Given the description of an element on the screen output the (x, y) to click on. 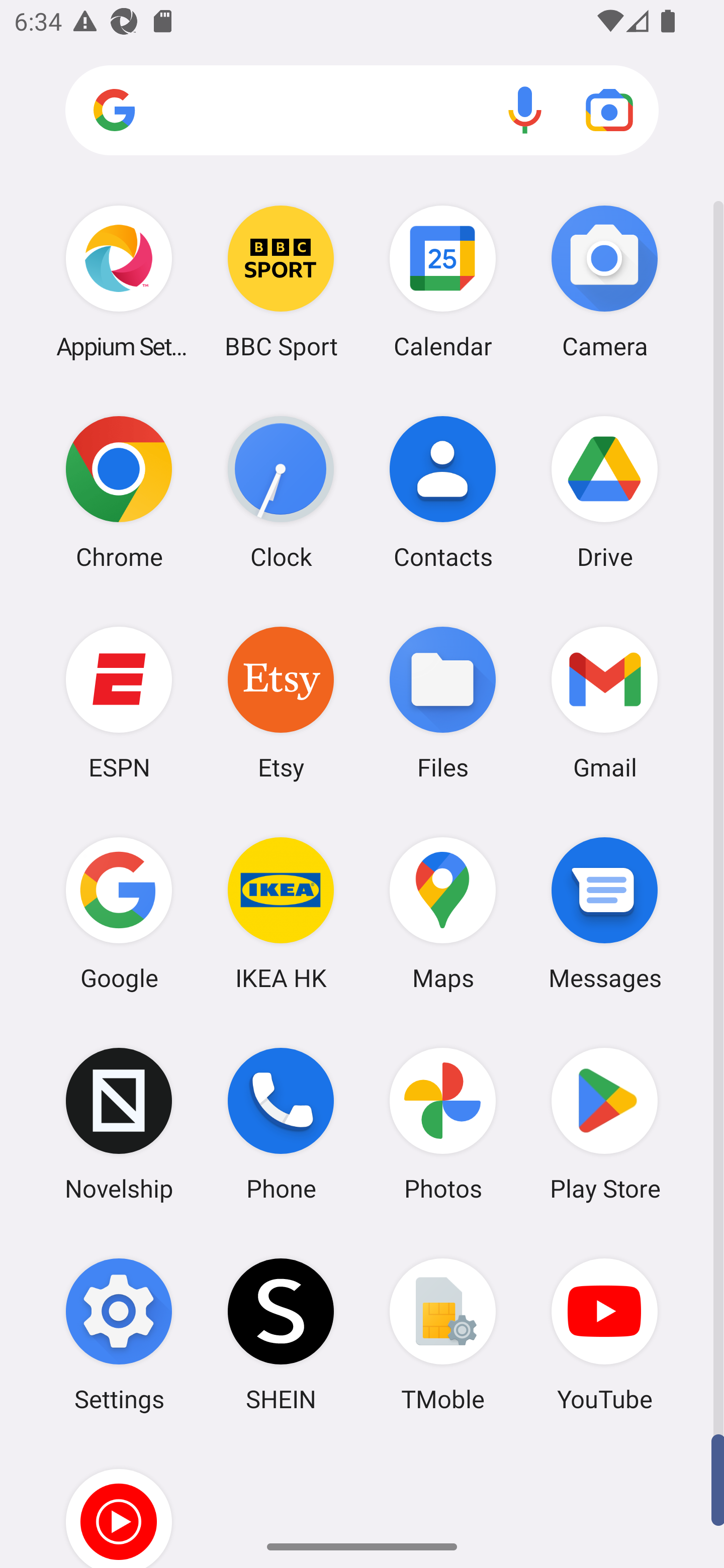
Search apps, web and more (361, 110)
Voice search (524, 109)
Google Lens (608, 109)
Appium Settings (118, 281)
BBC Sport (280, 281)
Calendar (443, 281)
Camera (604, 281)
Chrome (118, 492)
Clock (280, 492)
Contacts (443, 492)
Drive (604, 492)
ESPN (118, 702)
Etsy (280, 702)
Files (443, 702)
Gmail (604, 702)
Google (118, 913)
IKEA HK (280, 913)
Maps (443, 913)
Messages (604, 913)
Novelship (118, 1124)
Phone (280, 1124)
Photos (443, 1124)
Play Store (604, 1124)
Settings (118, 1334)
SHEIN (280, 1334)
TMoble (443, 1334)
YouTube (604, 1334)
YT Music (118, 1503)
